Given the description of an element on the screen output the (x, y) to click on. 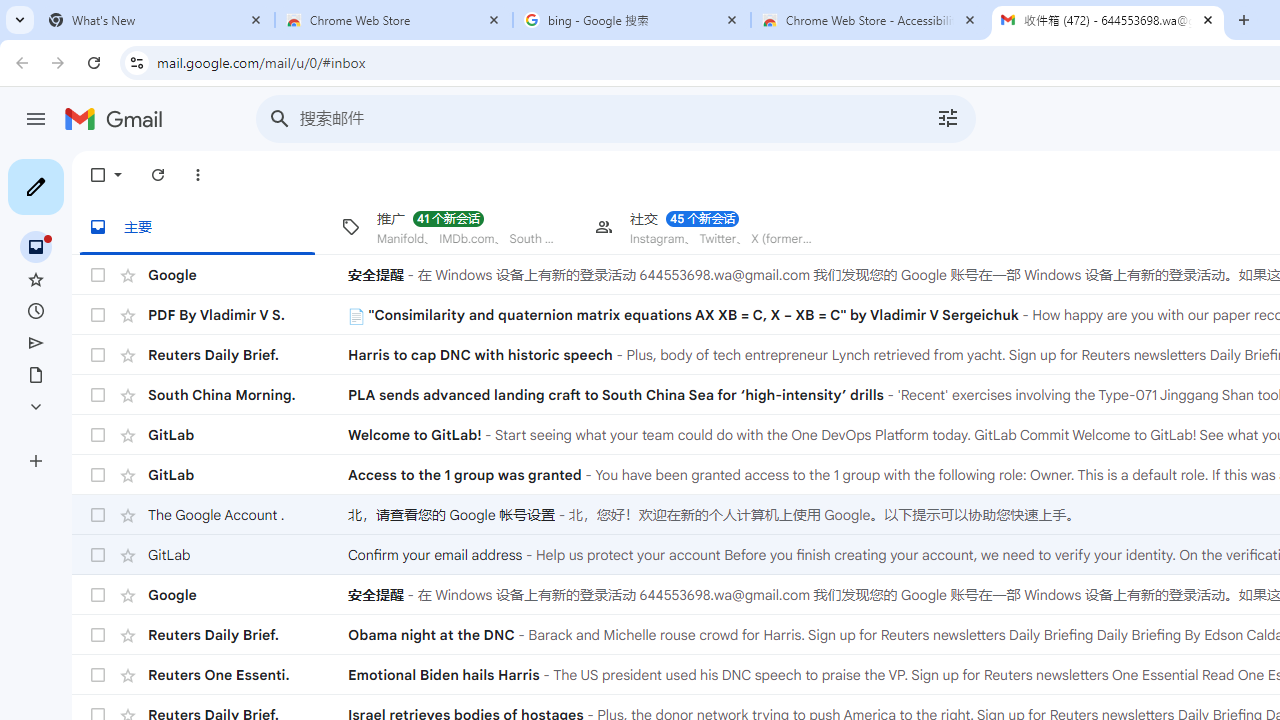
Chrome Web Store (394, 20)
Back (19, 62)
System (10, 11)
Forward (57, 62)
System (10, 11)
